Given the description of an element on the screen output the (x, y) to click on. 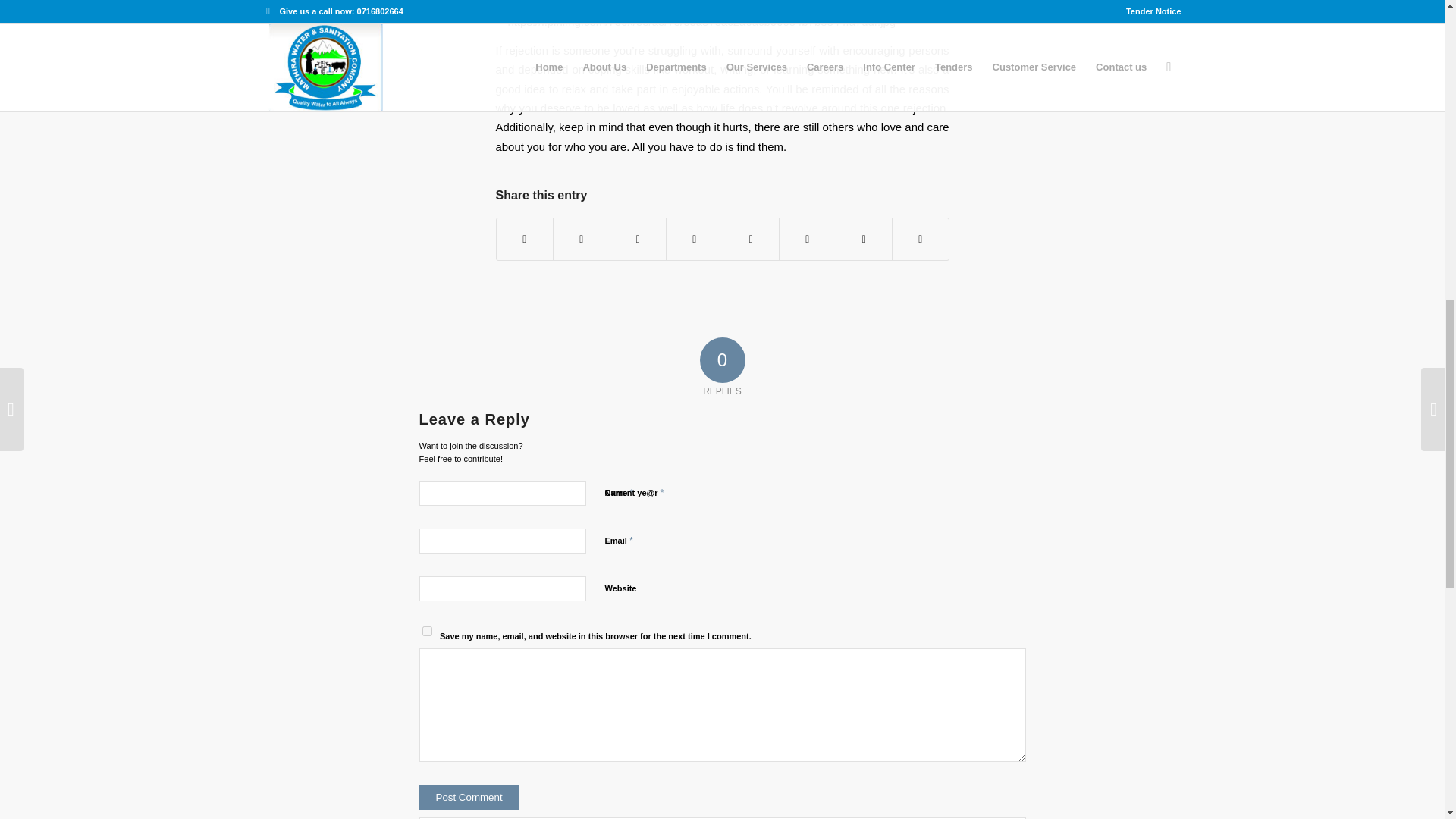
Post Comment (468, 796)
yes (426, 631)
